Given the description of an element on the screen output the (x, y) to click on. 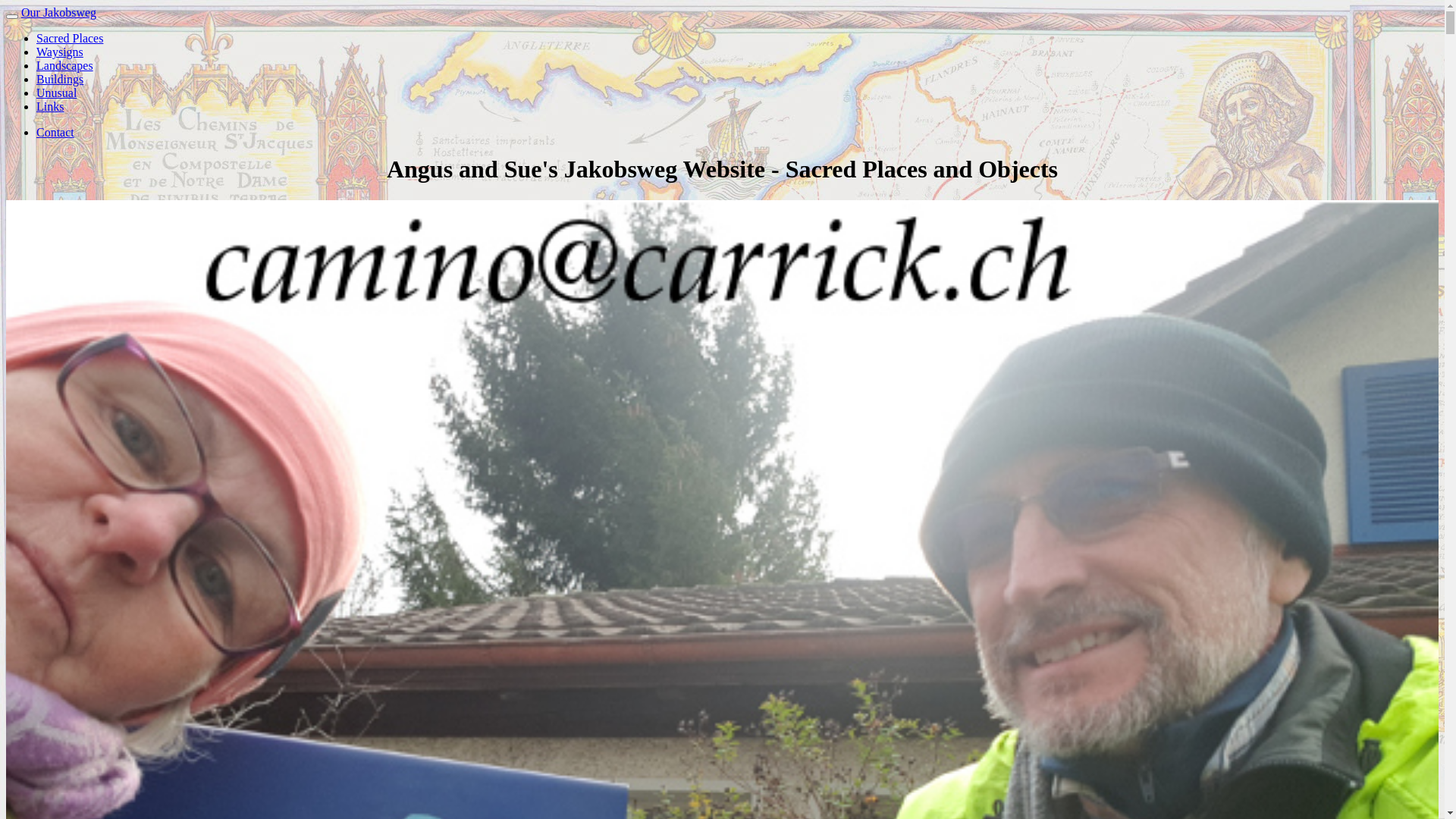
Our Jakobsweg Element type: text (58, 12)
Sacred Places Element type: text (69, 37)
Contact Element type: text (55, 131)
Landscapes Element type: text (64, 65)
Waysigns Element type: text (59, 51)
Links Element type: text (49, 106)
Unusual Element type: text (56, 92)
Buildings Element type: text (59, 78)
